Given the description of an element on the screen output the (x, y) to click on. 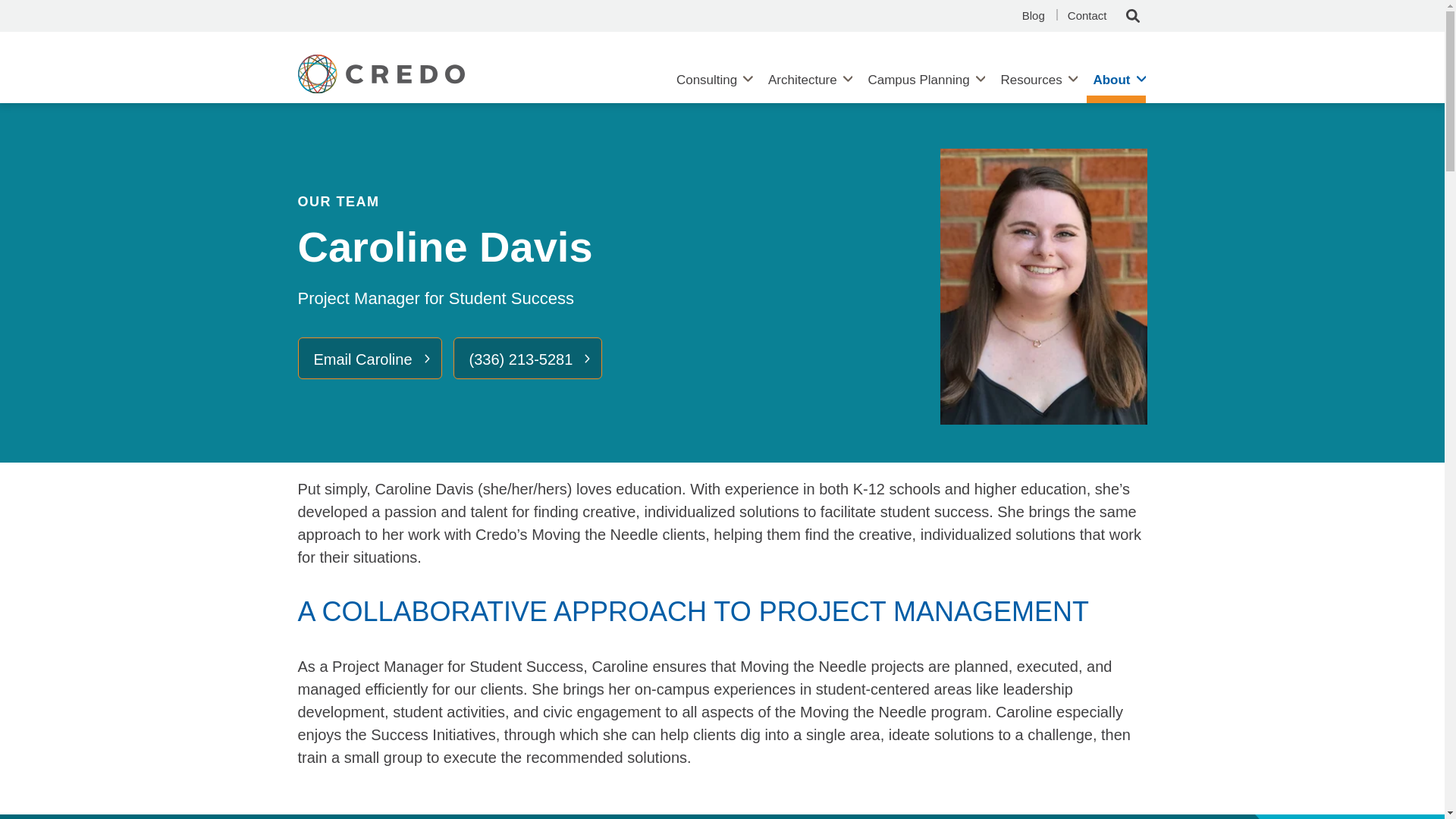
Campus Planning (918, 80)
Consulting (705, 80)
Back To Credo's Homepage (437, 78)
Architecture (802, 80)
Blog (1033, 15)
Resources (1030, 80)
Contact (1087, 15)
